Given the description of an element on the screen output the (x, y) to click on. 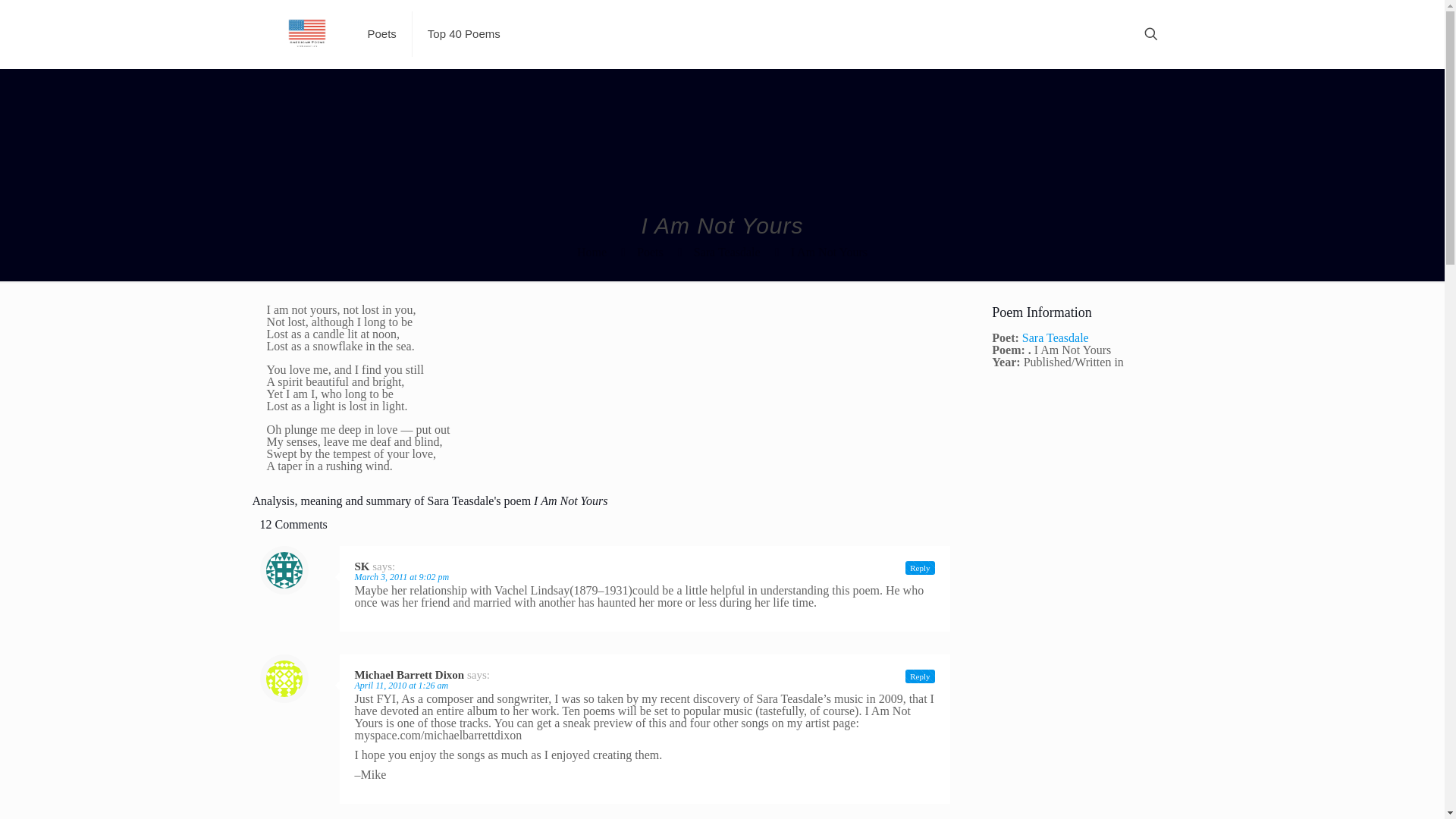
March 3, 2011 at 9:02 pm (402, 576)
Top 40 Poems (463, 33)
Sara Teasdale (1055, 337)
Sara Teasdale (727, 251)
April 11, 2010 at 1:26 am (401, 685)
Poets (650, 251)
I Am Not Yours (828, 251)
Reply (919, 676)
Home (591, 251)
Reply (919, 567)
